Given the description of an element on the screen output the (x, y) to click on. 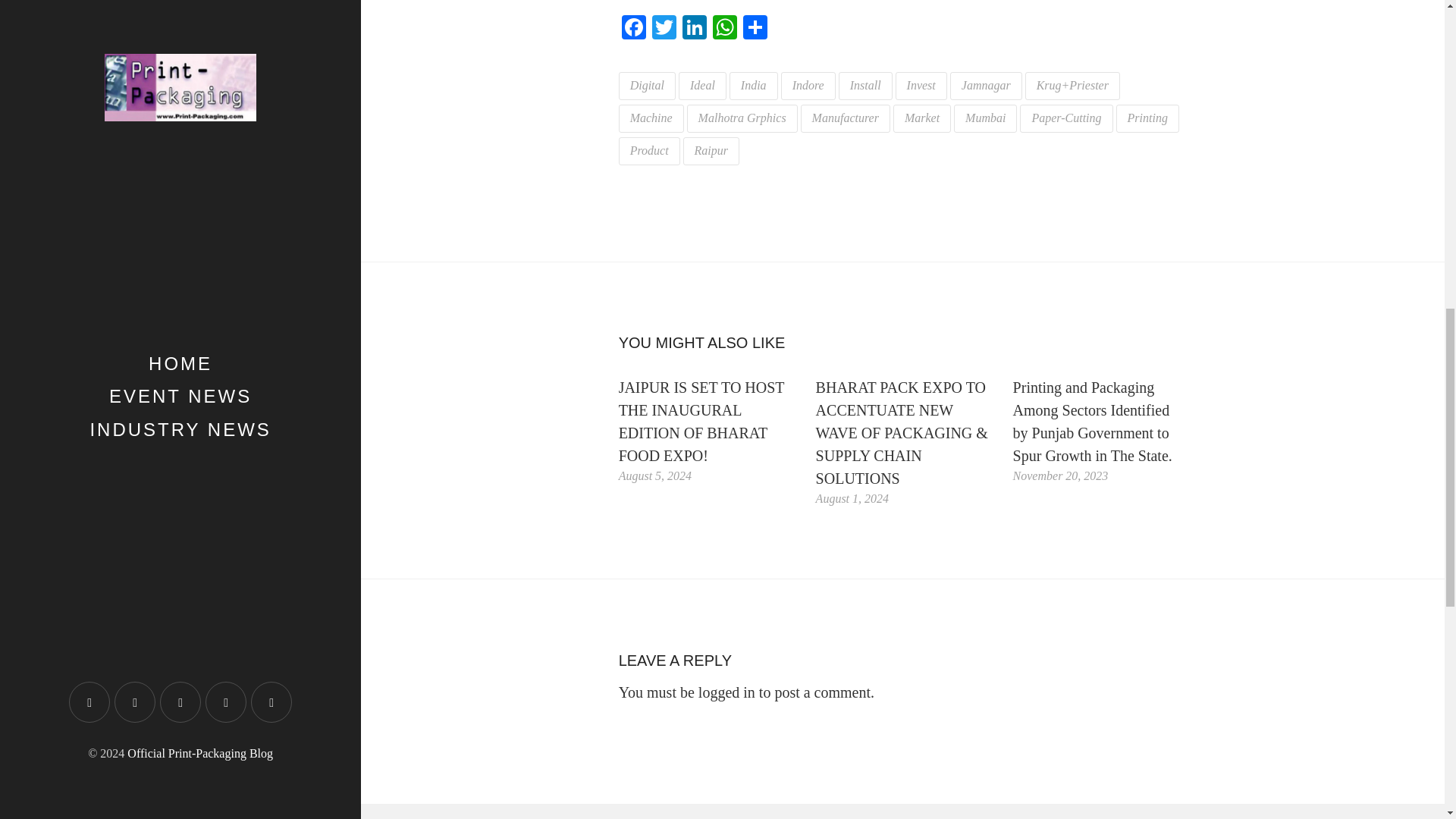
Invest (921, 85)
LinkedIn (694, 29)
Twitter (664, 29)
Facebook (633, 29)
Printing (1147, 118)
Jamnagar (986, 85)
Manufacturer (844, 118)
LinkedIn (694, 29)
Facebook (633, 29)
